Given the description of an element on the screen output the (x, y) to click on. 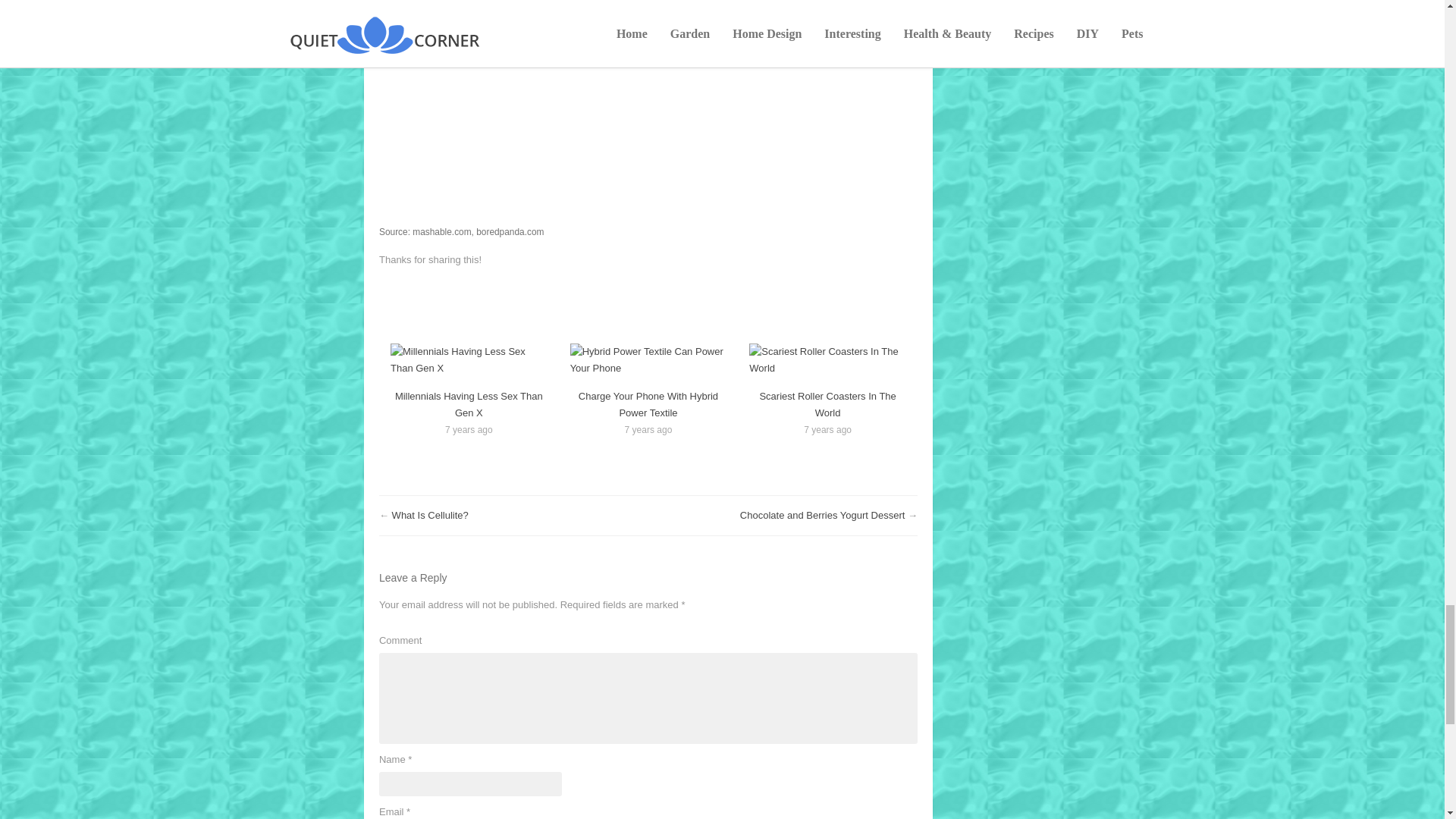
Millennials Having Less Sex Than Gen X (468, 359)
Millennials Having Less Sex Than Gen X (468, 404)
